Given the description of an element on the screen output the (x, y) to click on. 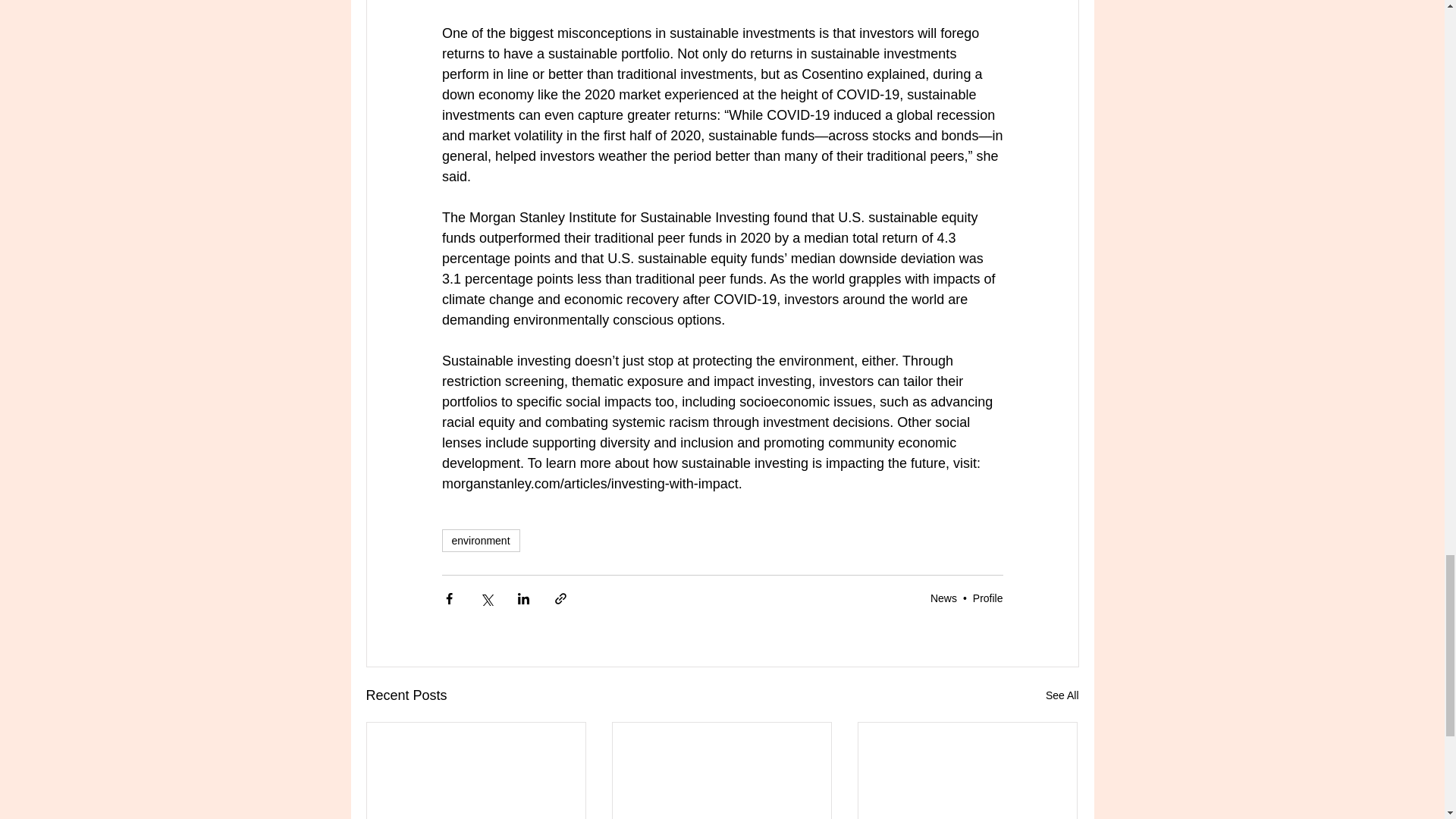
News (943, 597)
Profile (987, 597)
See All (1061, 695)
environment (480, 540)
